Given the description of an element on the screen output the (x, y) to click on. 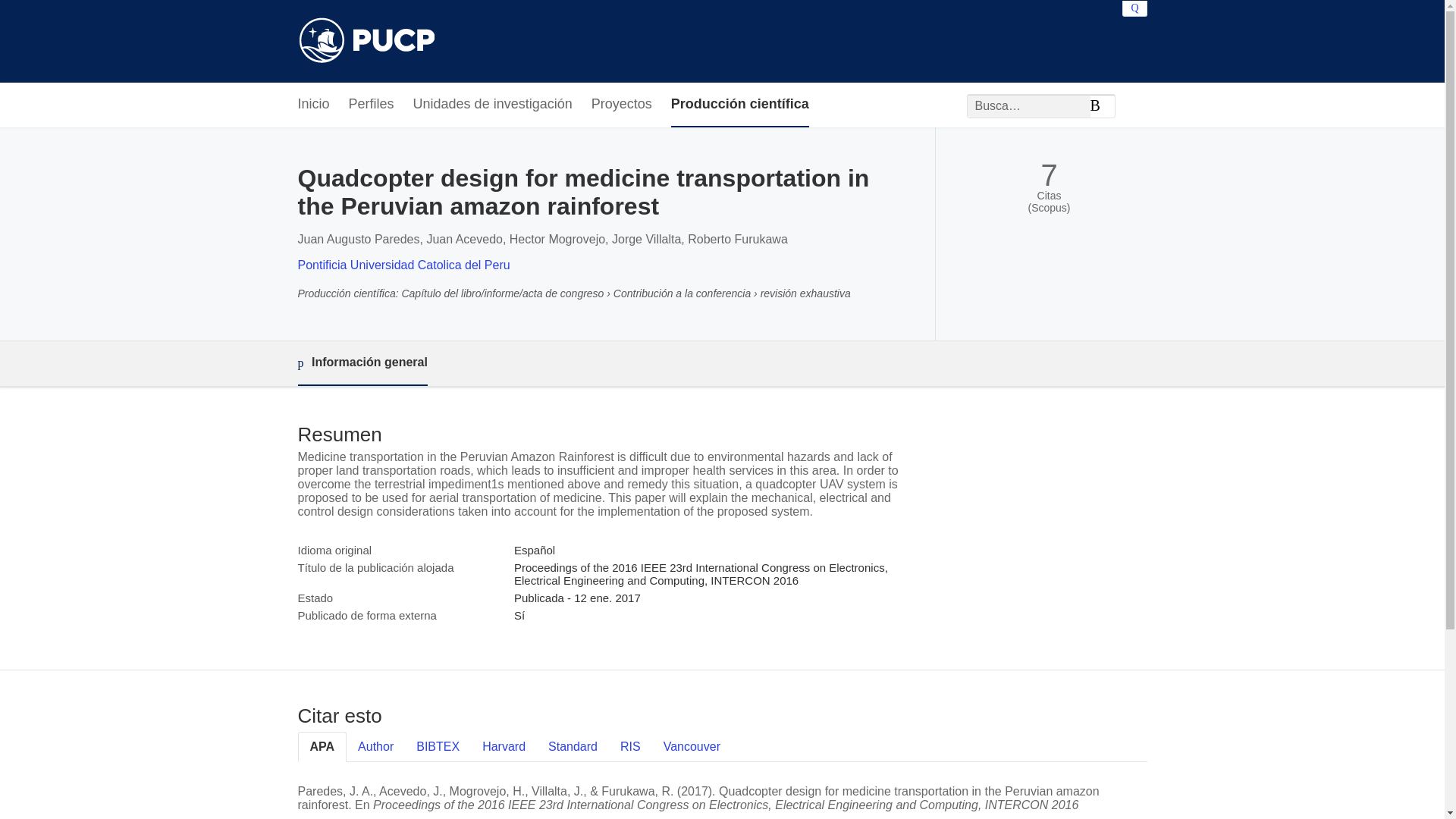
Pontificia Universidad Catolica del Peru (403, 264)
Proyectos (621, 104)
Perfiles (371, 104)
